Given the description of an element on the screen output the (x, y) to click on. 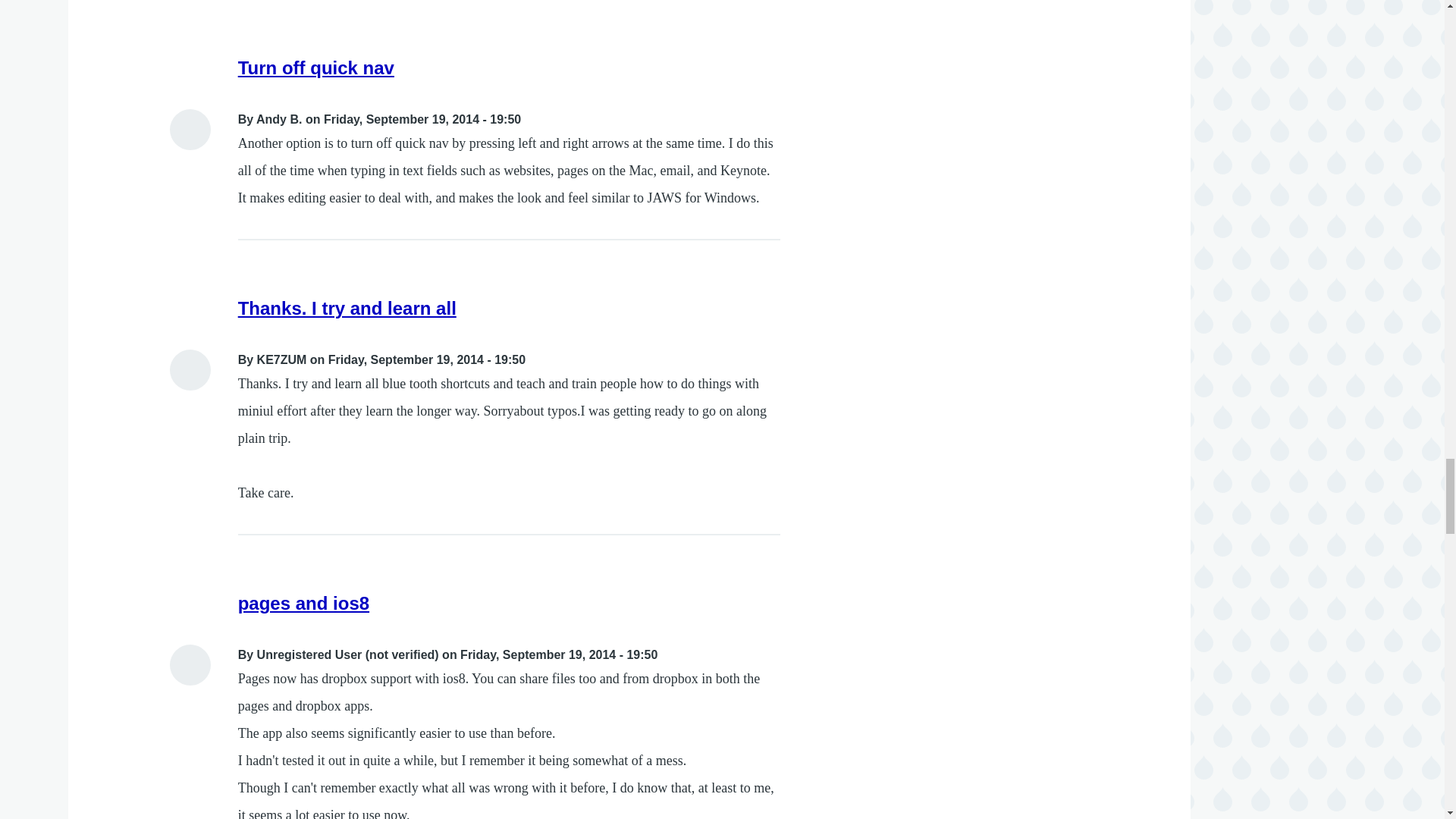
Turn off quick nav (316, 67)
pages and ios8 (303, 602)
Thanks. I try and learn all (347, 308)
